Given the description of an element on the screen output the (x, y) to click on. 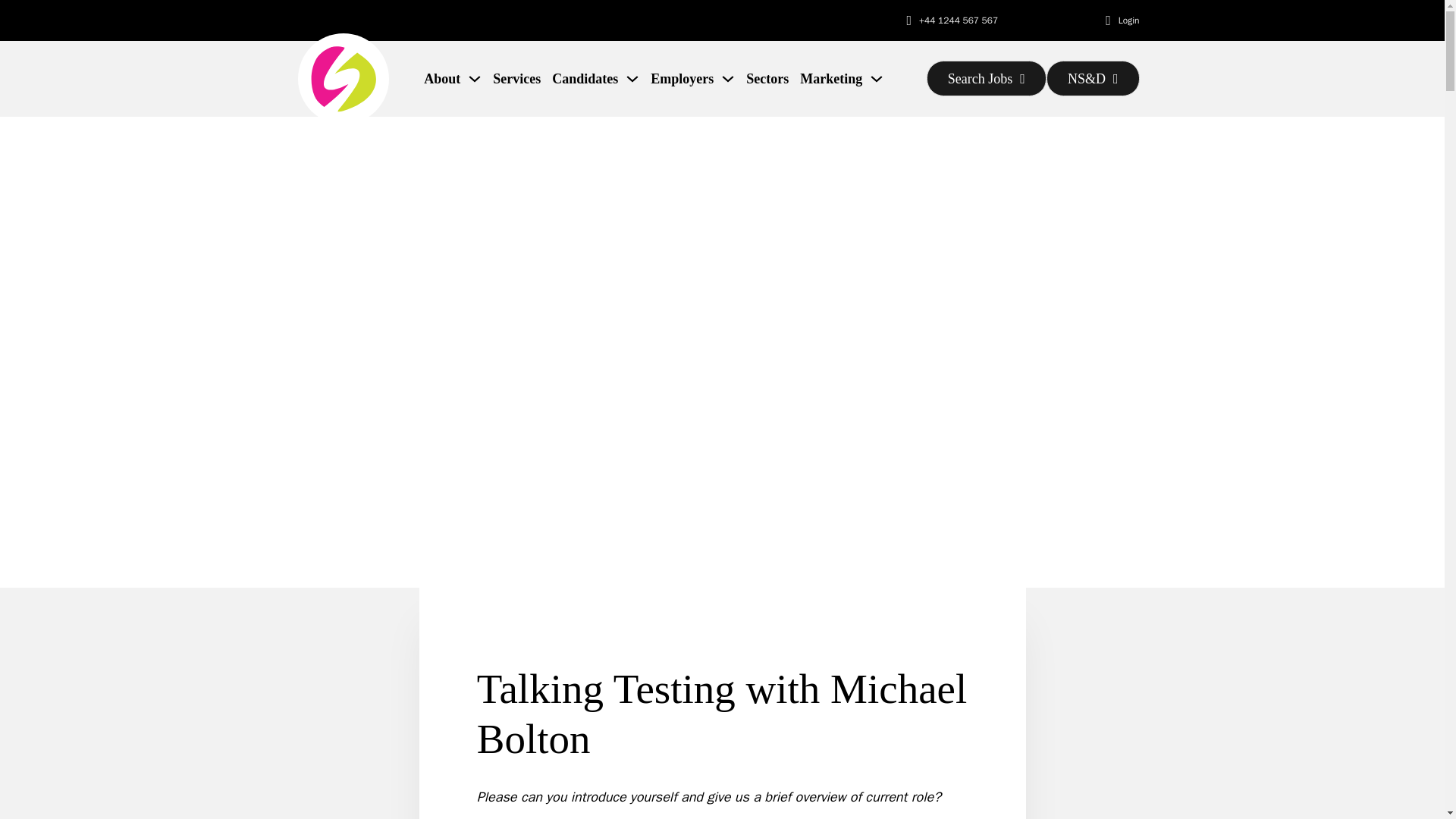
Login (1129, 20)
Services (516, 78)
Candidates (584, 78)
Marketing (830, 78)
Sectors (767, 78)
About (441, 78)
Employers (681, 78)
